Given the description of an element on the screen output the (x, y) to click on. 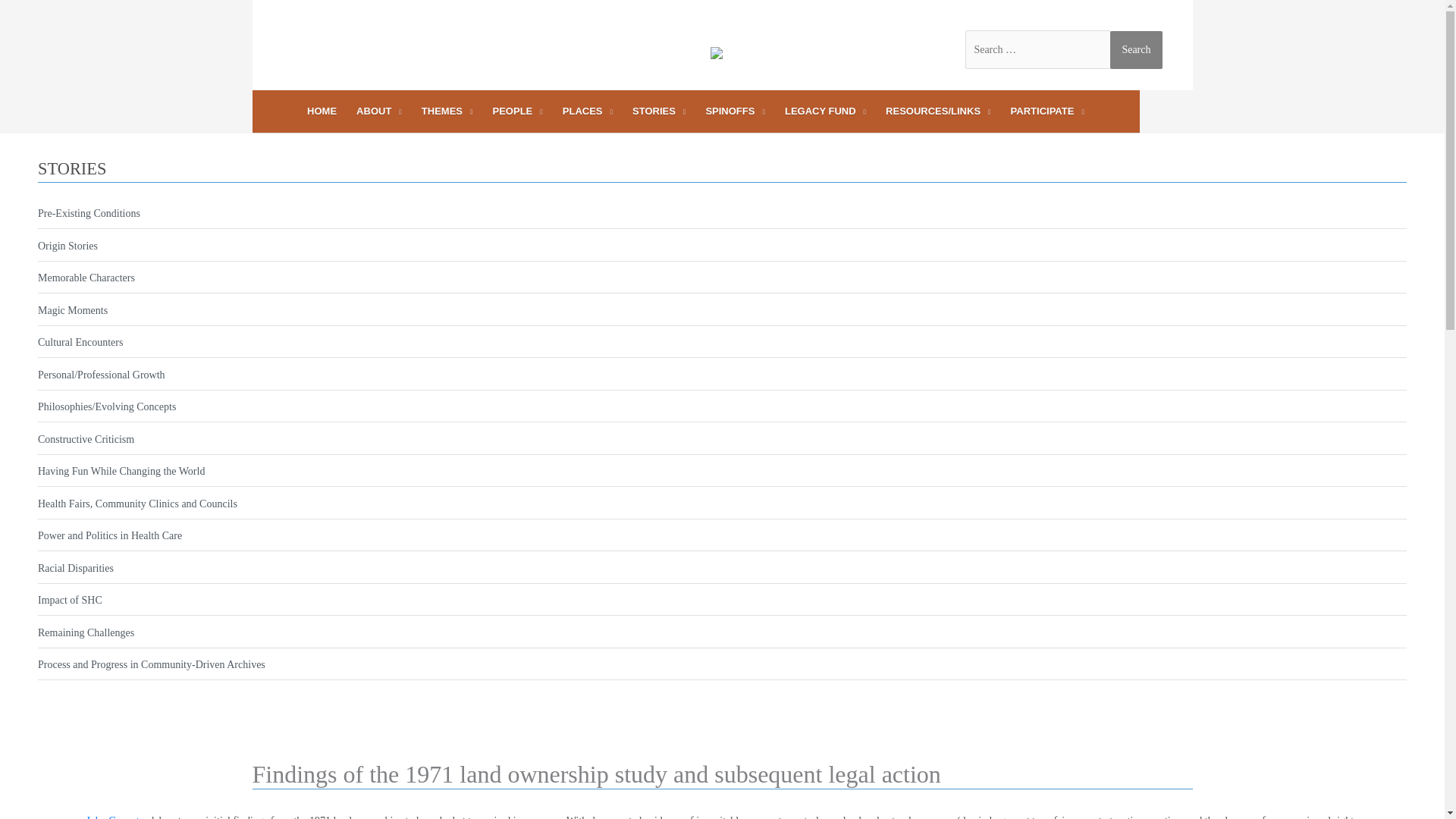
ABOUT (379, 111)
Search (1135, 48)
PEOPLE (518, 111)
THEMES (447, 111)
Search (1135, 48)
Search (1135, 48)
STORIES (659, 111)
HOME (321, 111)
PLACES (588, 111)
